Given the description of an element on the screen output the (x, y) to click on. 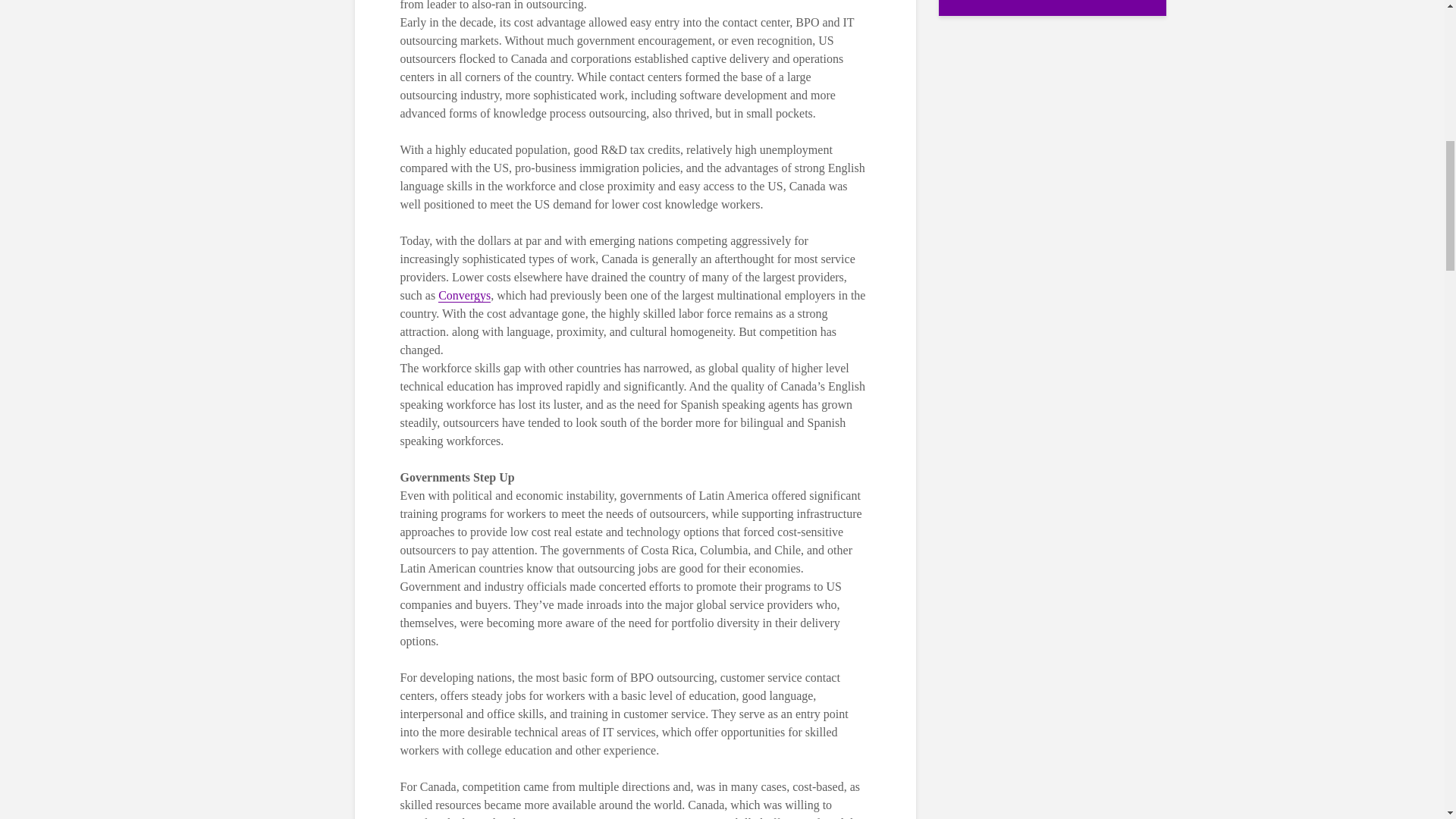
Convergys (464, 295)
